Given the description of an element on the screen output the (x, y) to click on. 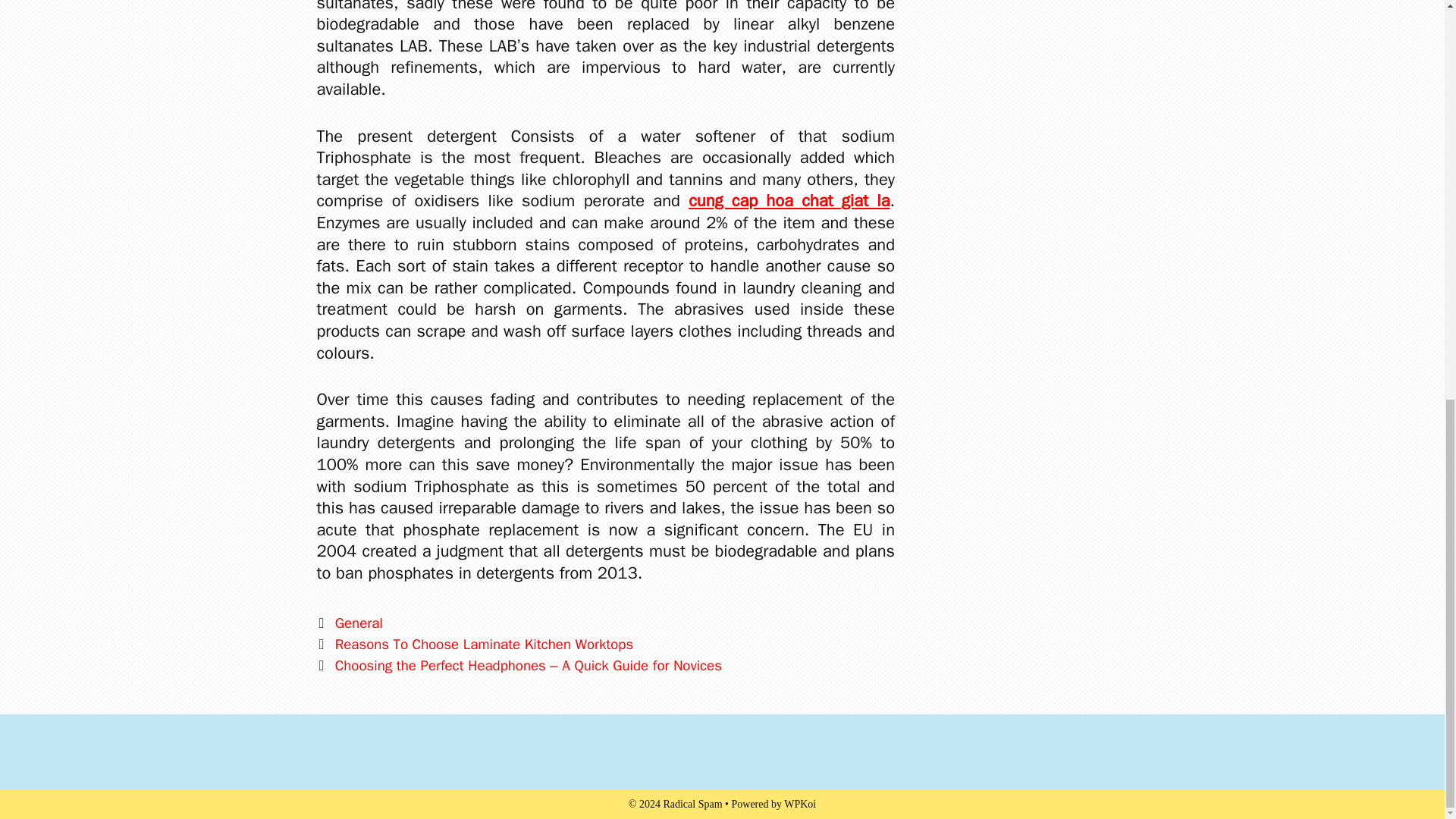
cung cap hoa chat giat la (788, 200)
Previous (475, 644)
Next (519, 665)
General (358, 623)
WPKoi (799, 803)
Reasons To Choose Laminate Kitchen Worktops (483, 644)
